Given the description of an element on the screen output the (x, y) to click on. 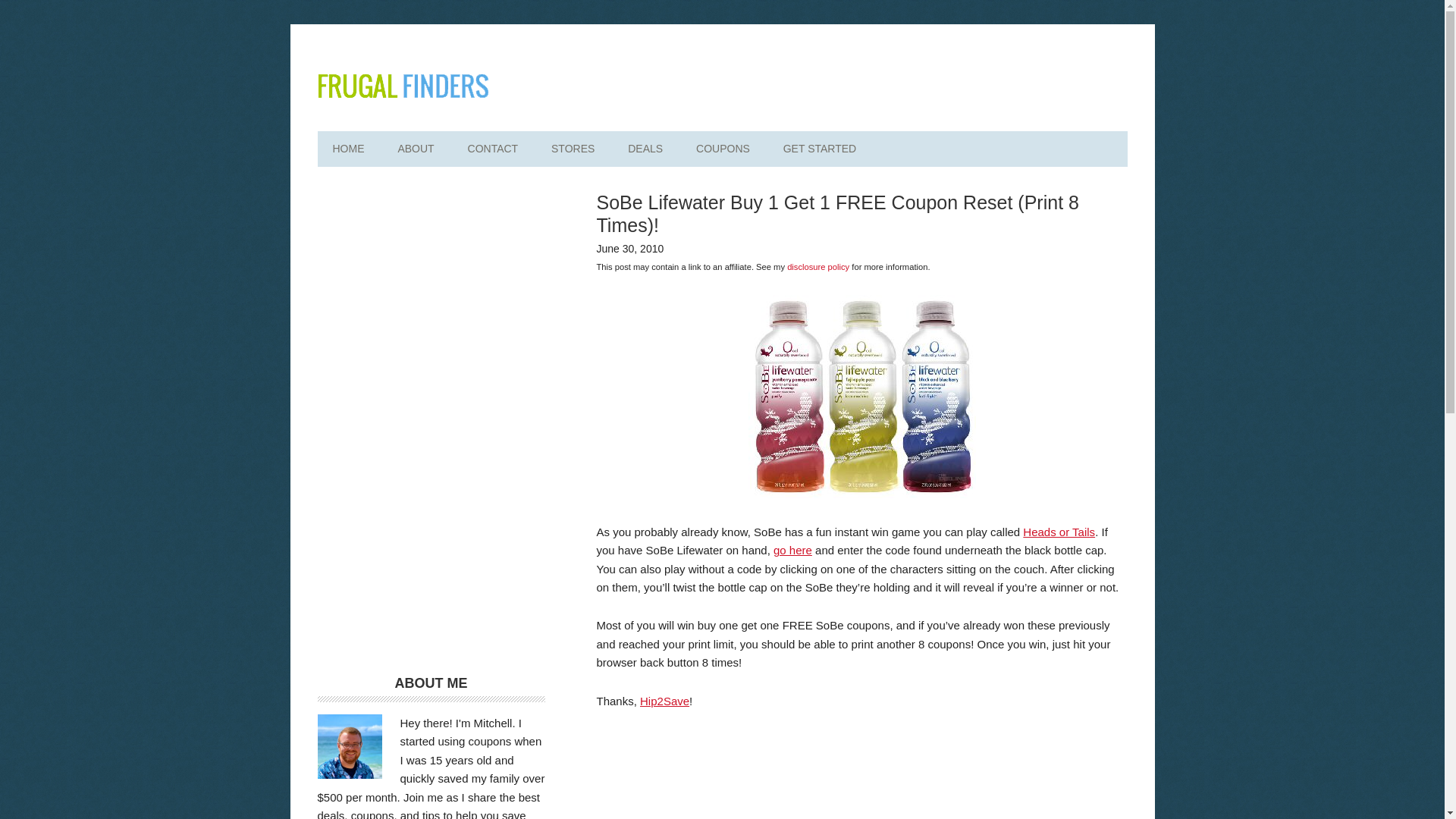
ABOUT (414, 149)
COUPONS (723, 149)
CONTACT (493, 149)
disclosure policy (817, 266)
GET STARTED (819, 149)
go here (792, 549)
Frugal Finders (402, 84)
Affiliate Link Disclosure Policy (817, 266)
Hip2Save (664, 700)
Heads or Tails (1058, 531)
